Given the description of an element on the screen output the (x, y) to click on. 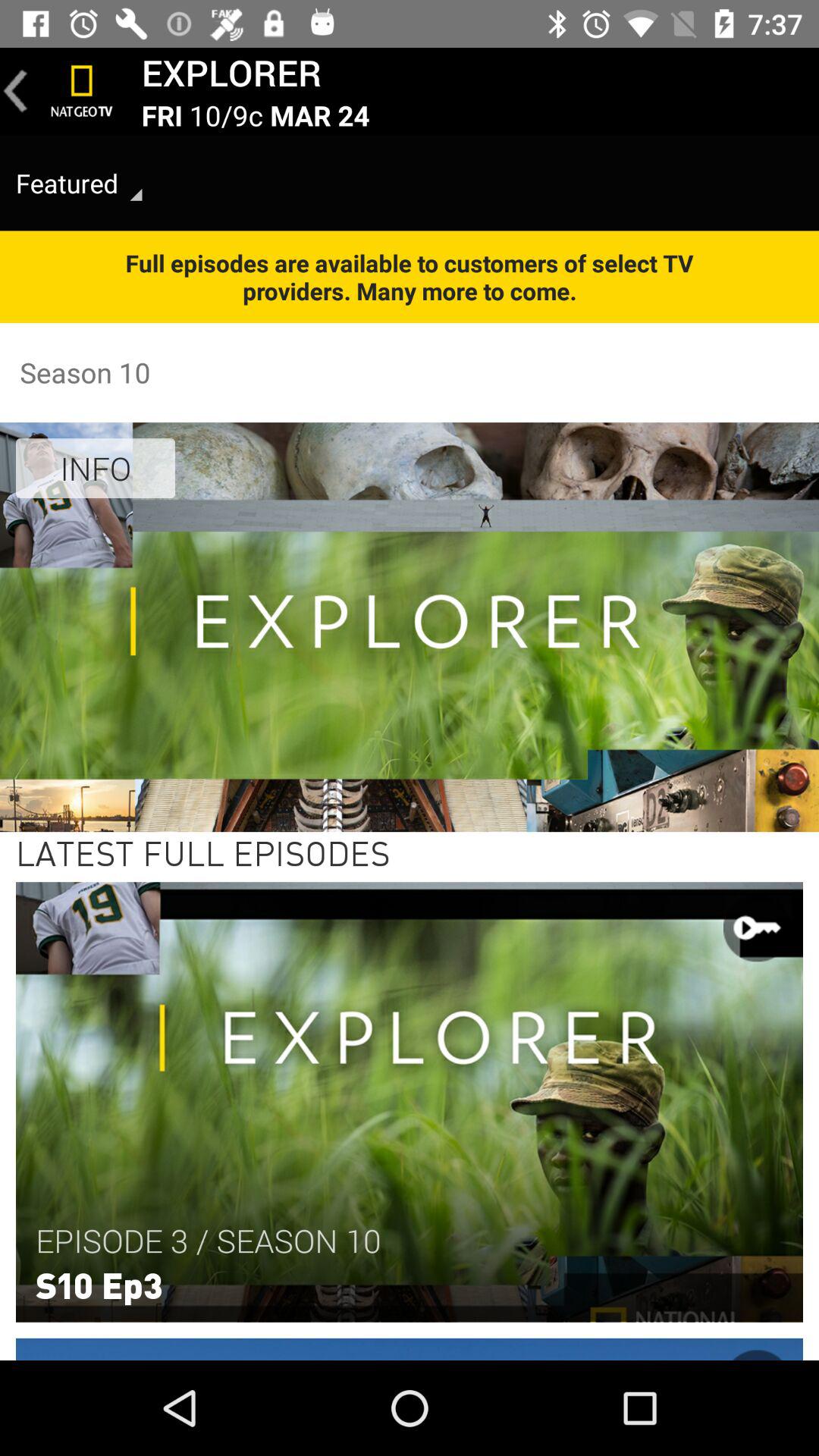
press the item next to the explorer item (81, 90)
